Given the description of an element on the screen output the (x, y) to click on. 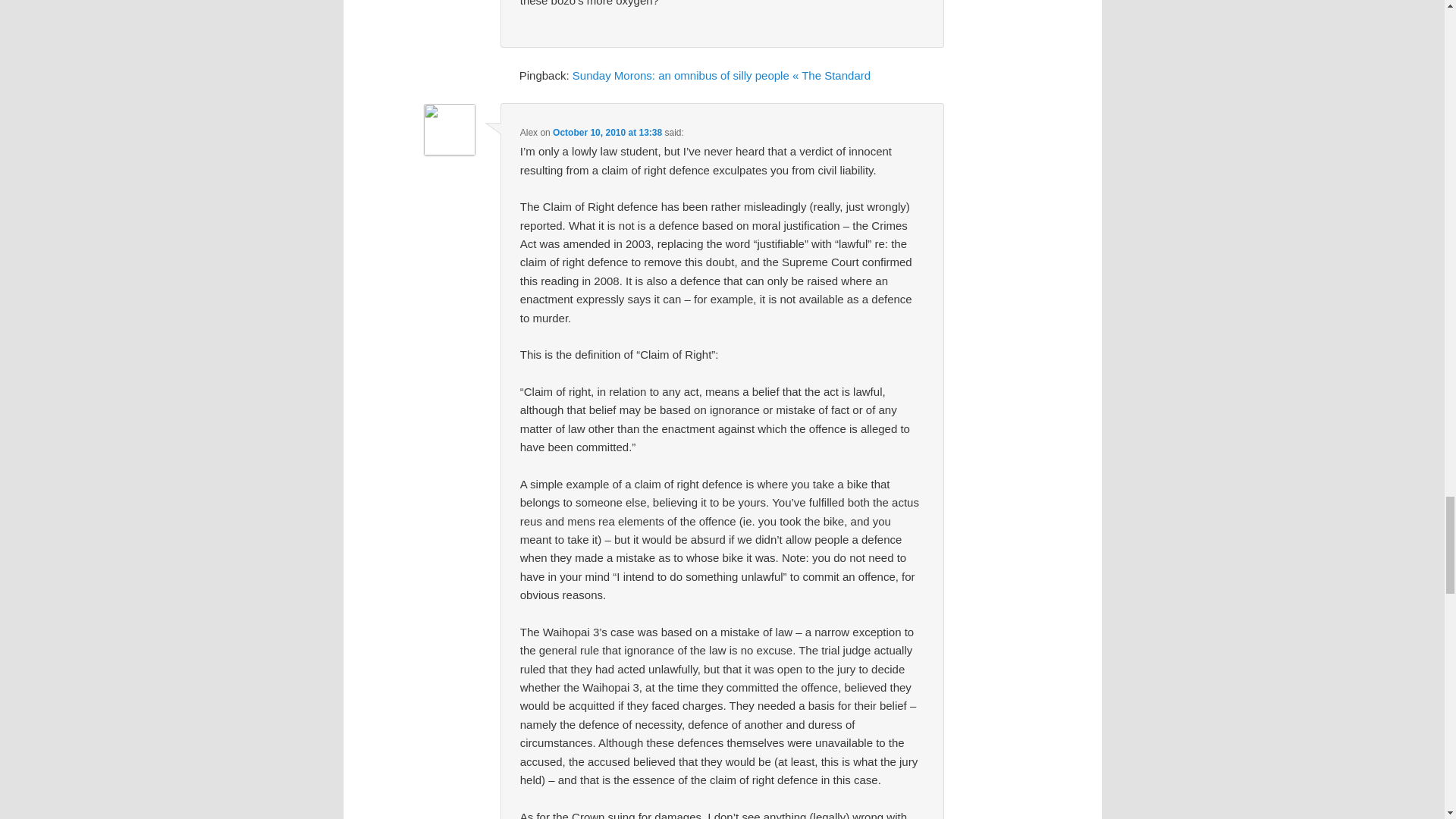
October 10, 2010 at 13:38 (607, 132)
